Given the description of an element on the screen output the (x, y) to click on. 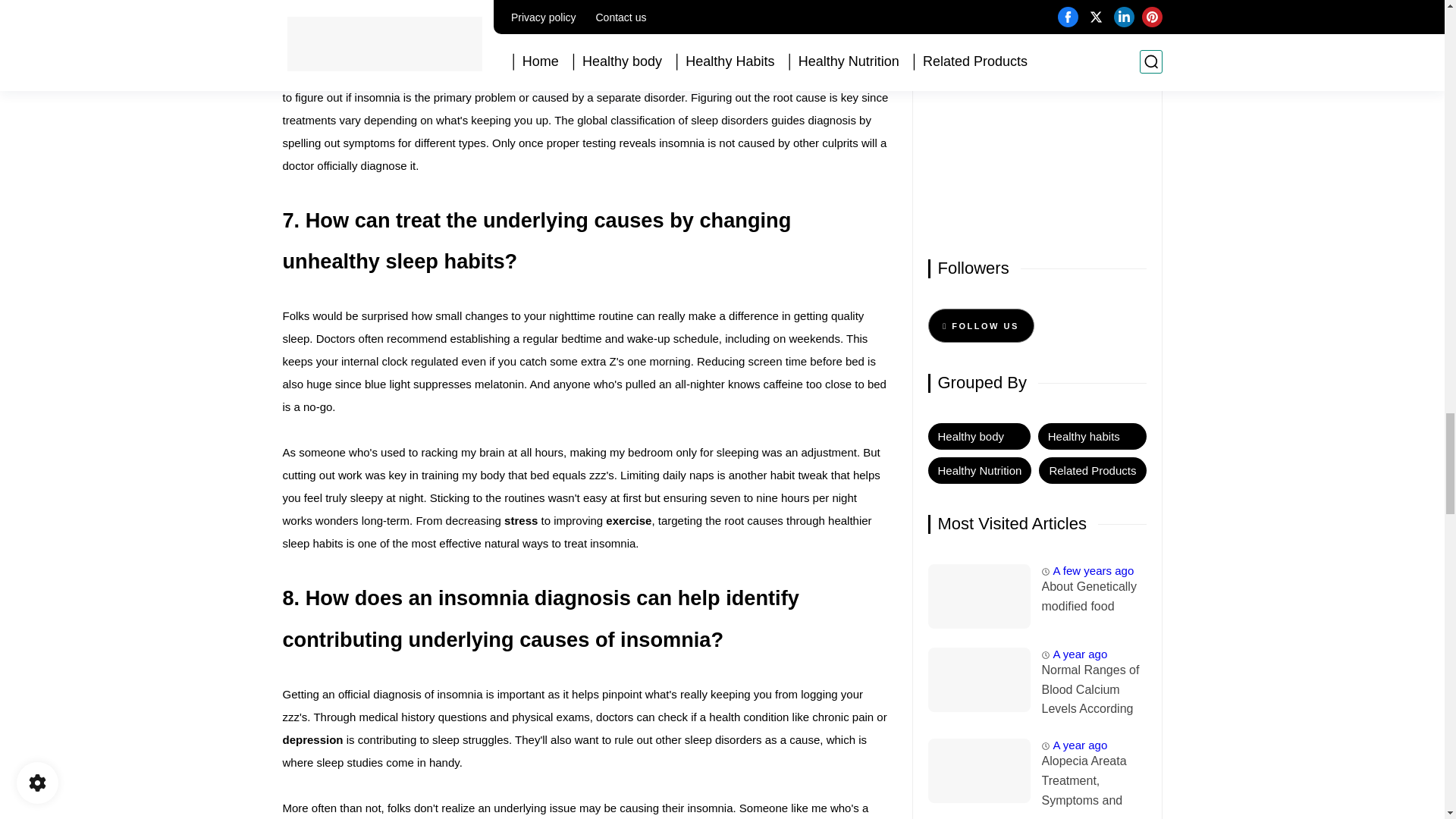
exercise (627, 520)
stress (520, 520)
depression (312, 739)
